Given the description of an element on the screen output the (x, y) to click on. 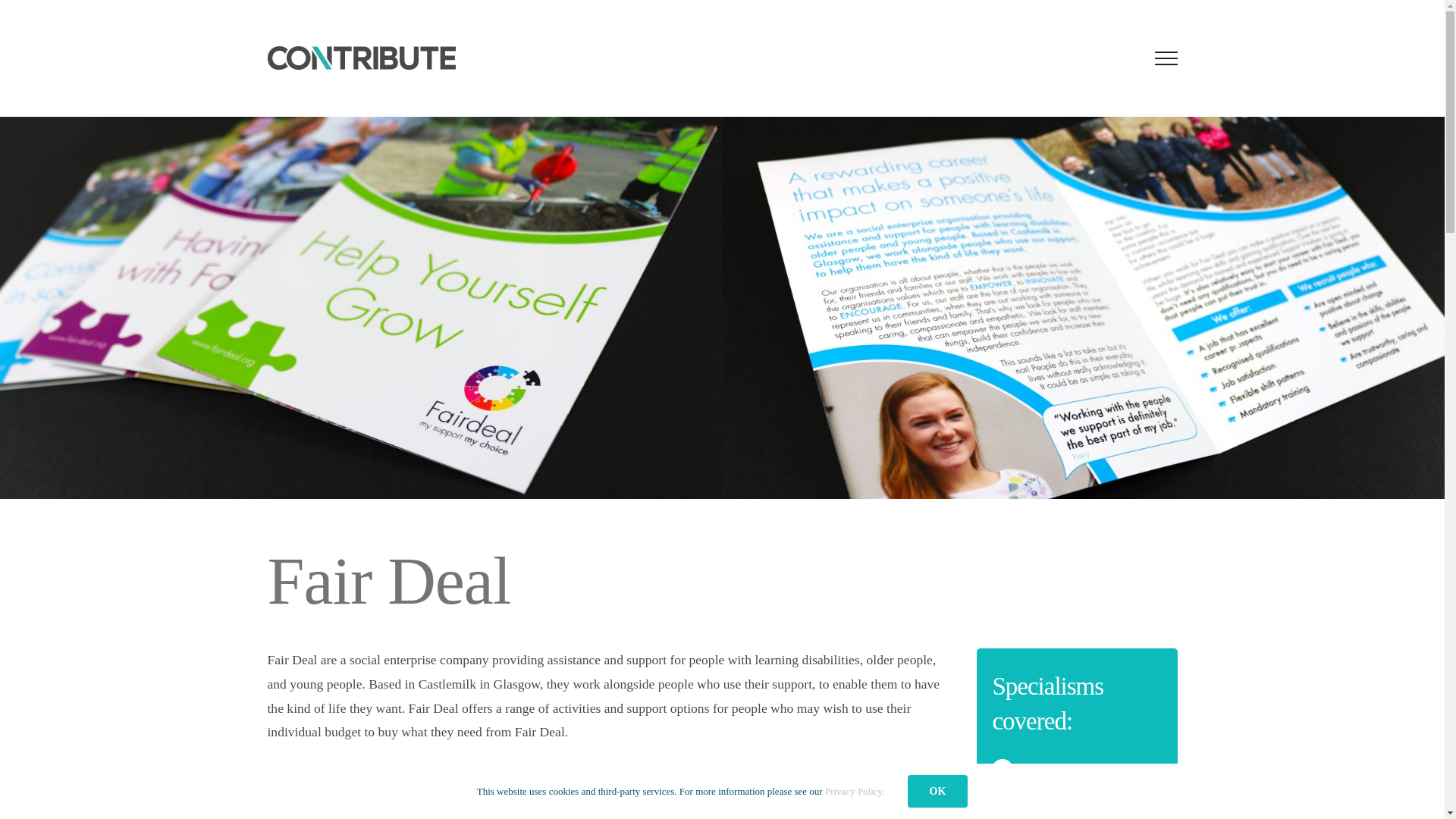
Graphic Design (1059, 768)
Accessibility (1374, 787)
